Given the description of an element on the screen output the (x, y) to click on. 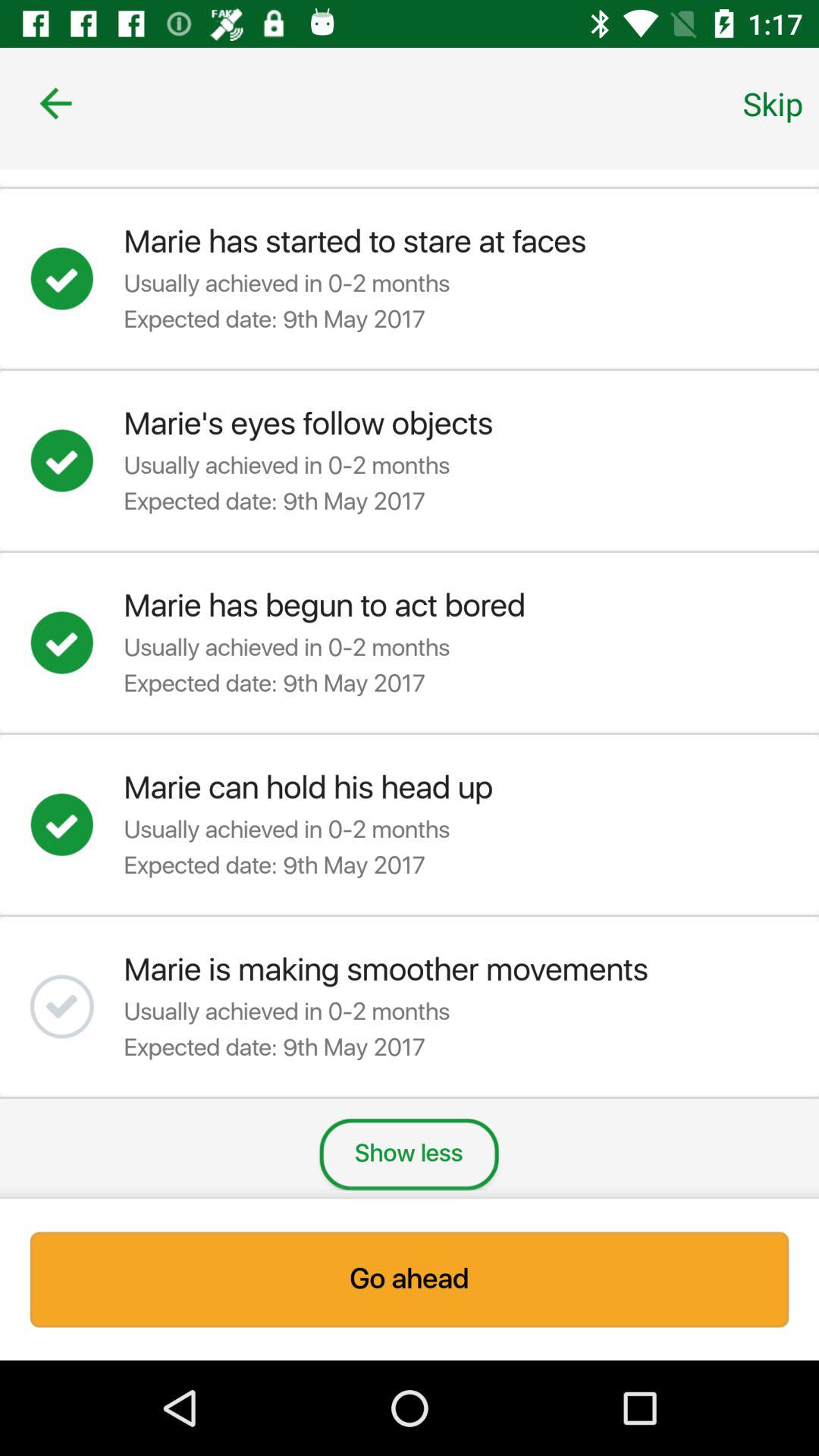
select stat (76, 278)
